Given the description of an element on the screen output the (x, y) to click on. 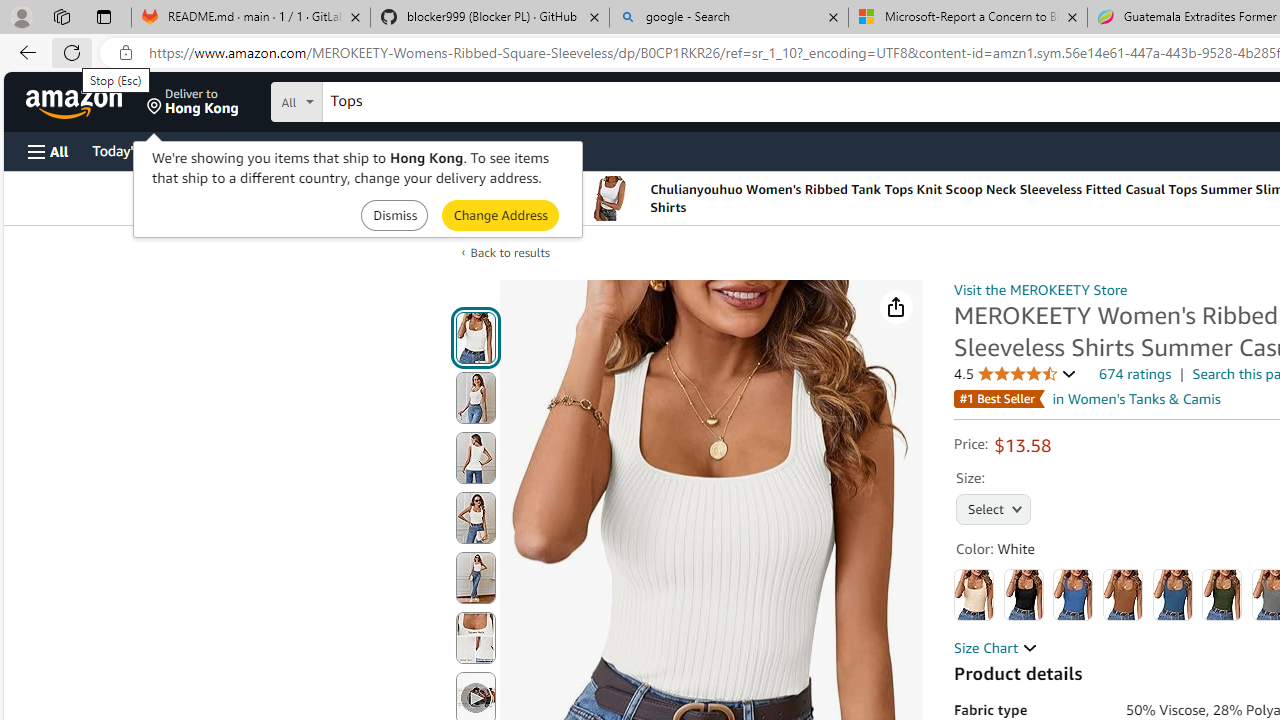
Back to results (509, 251)
AutomationID: native_dropdown_selected_size_name (993, 507)
Black (1023, 594)
Dusty Blue (1172, 594)
Registry (360, 150)
Blue (1073, 594)
Customer Service (256, 150)
Skip to main content (86, 100)
Blue (1073, 594)
Beige (974, 594)
Size Chart  (995, 647)
